Given the description of an element on the screen output the (x, y) to click on. 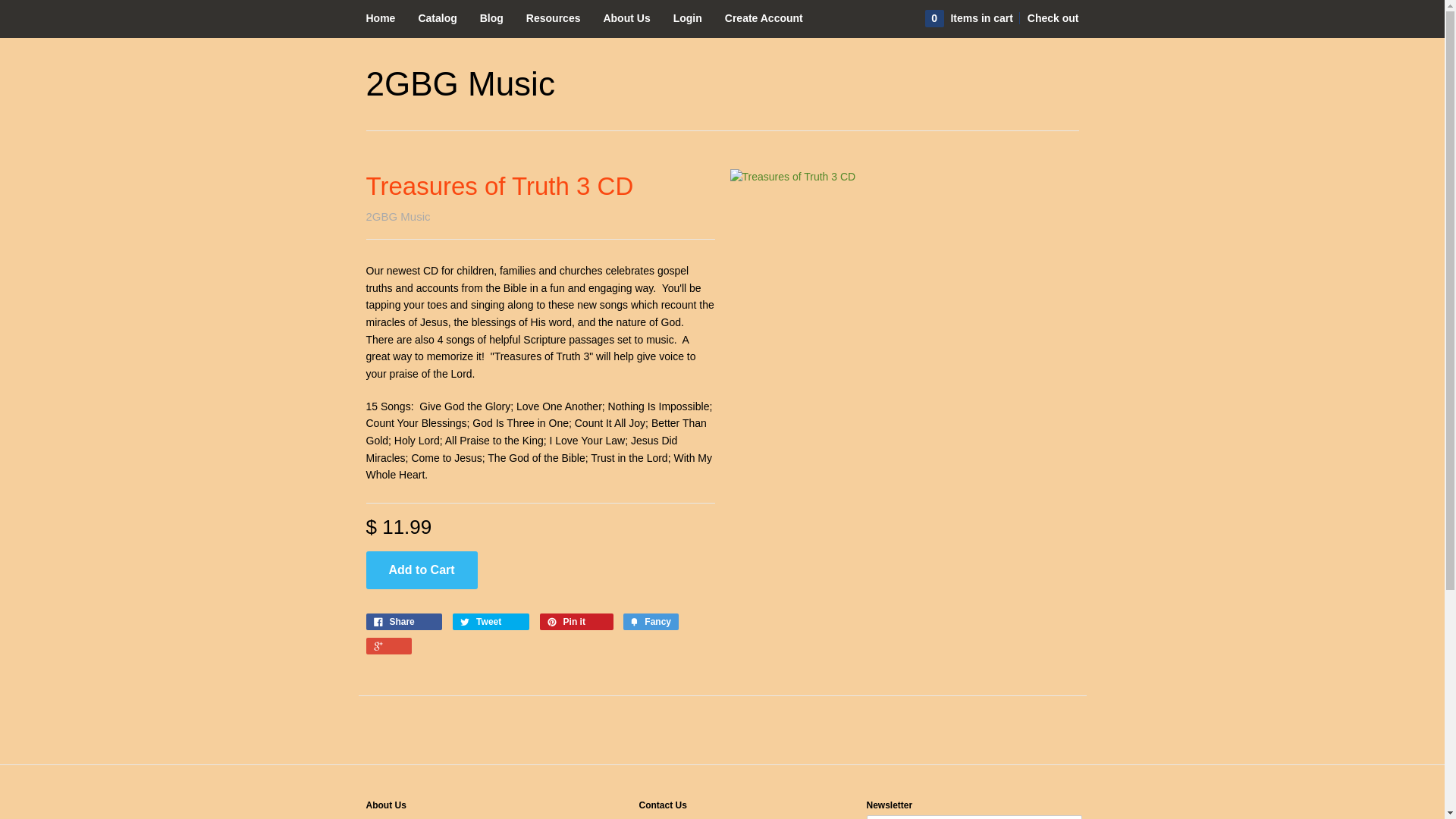
About Us Element type: text (625, 18)
0 Items in cart Element type: text (970, 18)
Blog Element type: text (491, 18)
Catalog Element type: text (436, 18)
Pin it Element type: text (576, 621)
Login Element type: text (687, 18)
2GBG Music Element type: text (459, 83)
Tweet Element type: text (490, 621)
Check out Element type: text (1047, 18)
2GBG Music Element type: text (397, 216)
Add to Cart Element type: text (420, 570)
Resources Element type: text (553, 18)
Create Account Element type: text (763, 18)
Home Element type: text (380, 18)
Share Element type: text (403, 621)
Fancy Element type: text (650, 621)
